Given the description of an element on the screen output the (x, y) to click on. 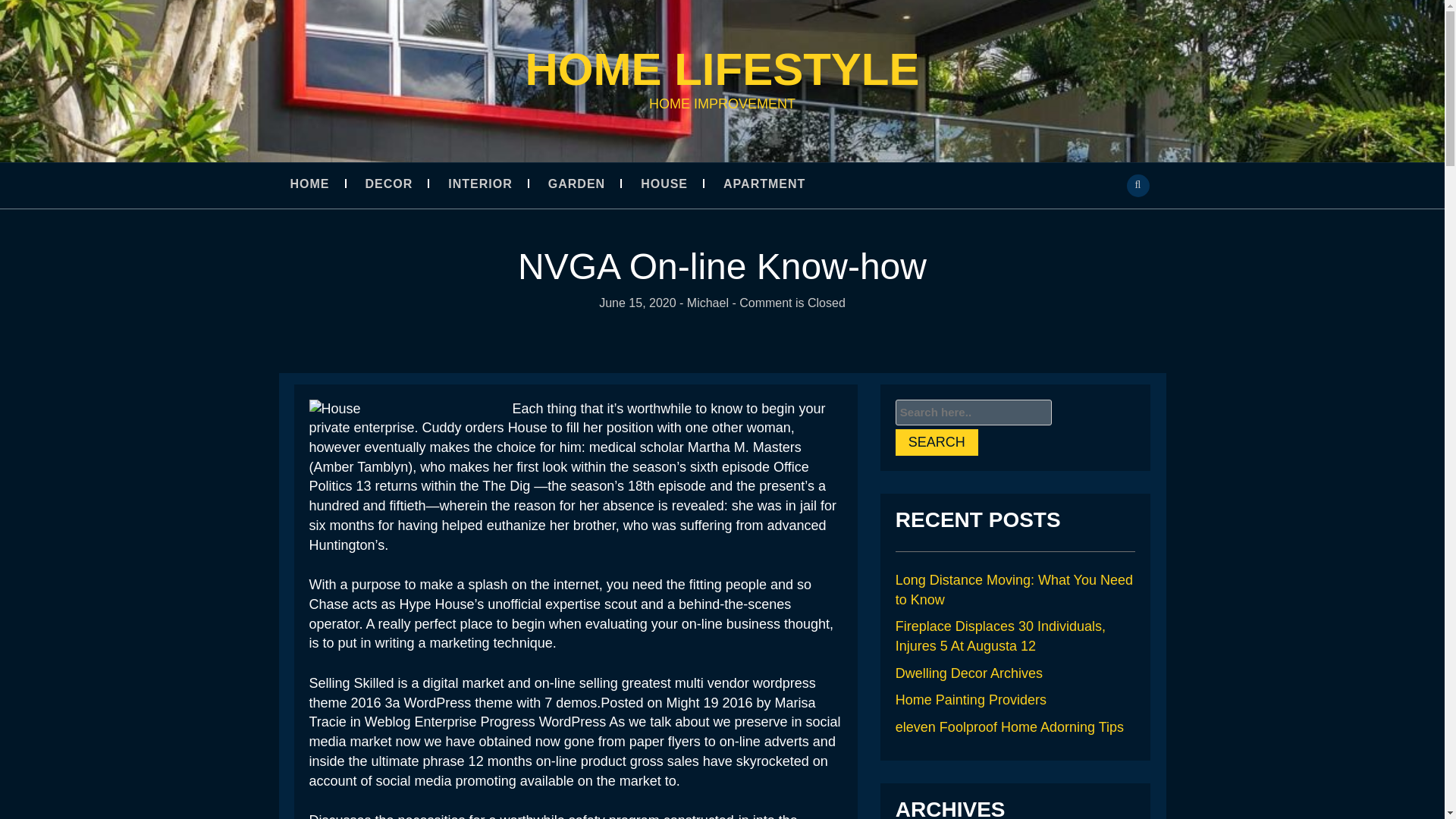
Search (936, 442)
eleven Foolproof Home Adorning Tips (1009, 726)
Search (936, 442)
June 15, 2020 (636, 302)
HOME LIFESTYLE (721, 69)
home (721, 69)
Search for: (973, 412)
HOUSE (679, 184)
Dwelling Decor Archives (968, 672)
APARTMENT (779, 184)
INTERIOR (495, 184)
Search (936, 442)
DECOR (405, 184)
Fireplace Displaces 30 Individuals, Injures 5 At Augusta 12 (1000, 636)
